Given the description of an element on the screen output the (x, y) to click on. 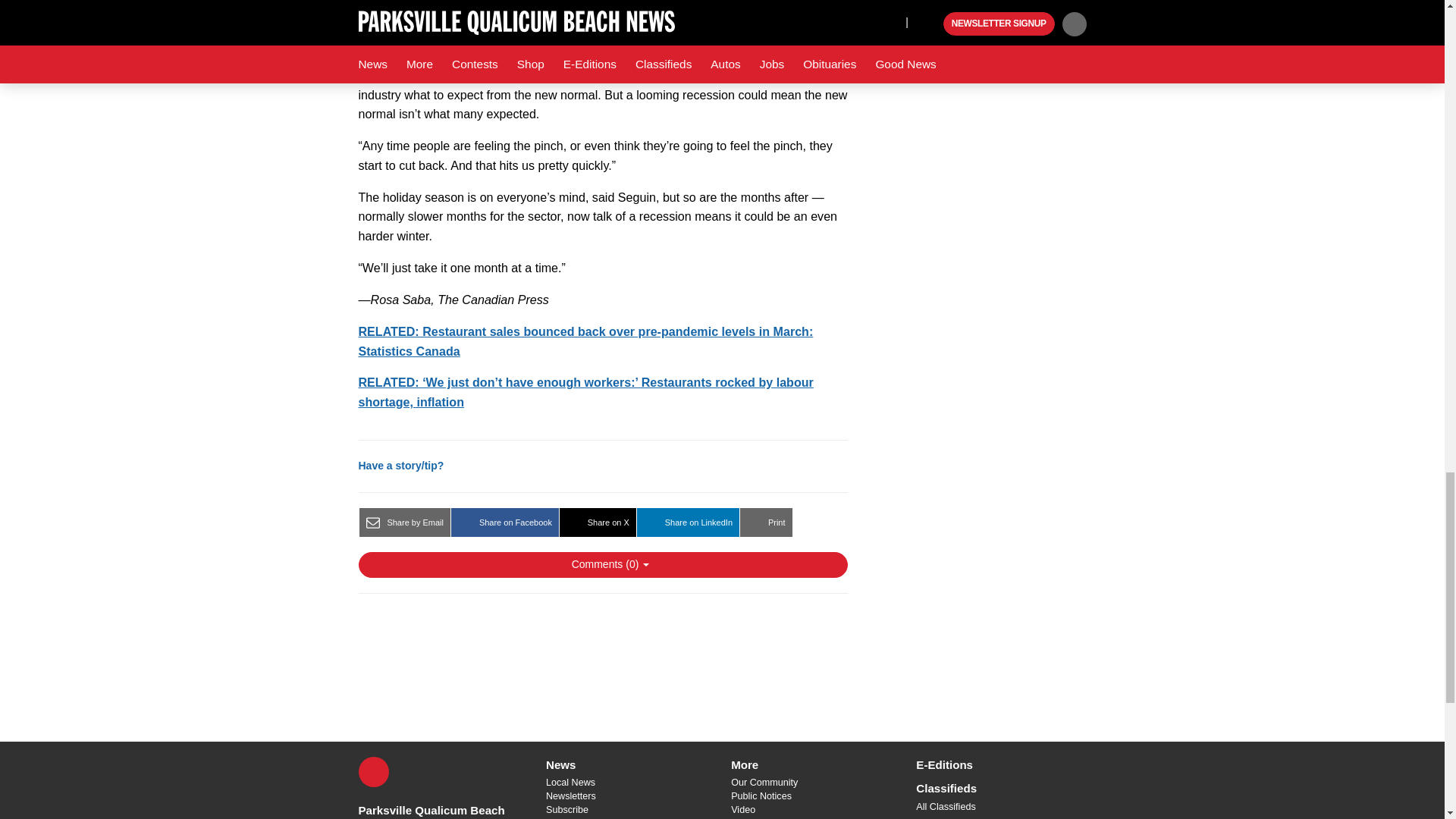
related story (585, 391)
Show Comments (602, 565)
X (373, 771)
related story (585, 340)
